Given the description of an element on the screen output the (x, y) to click on. 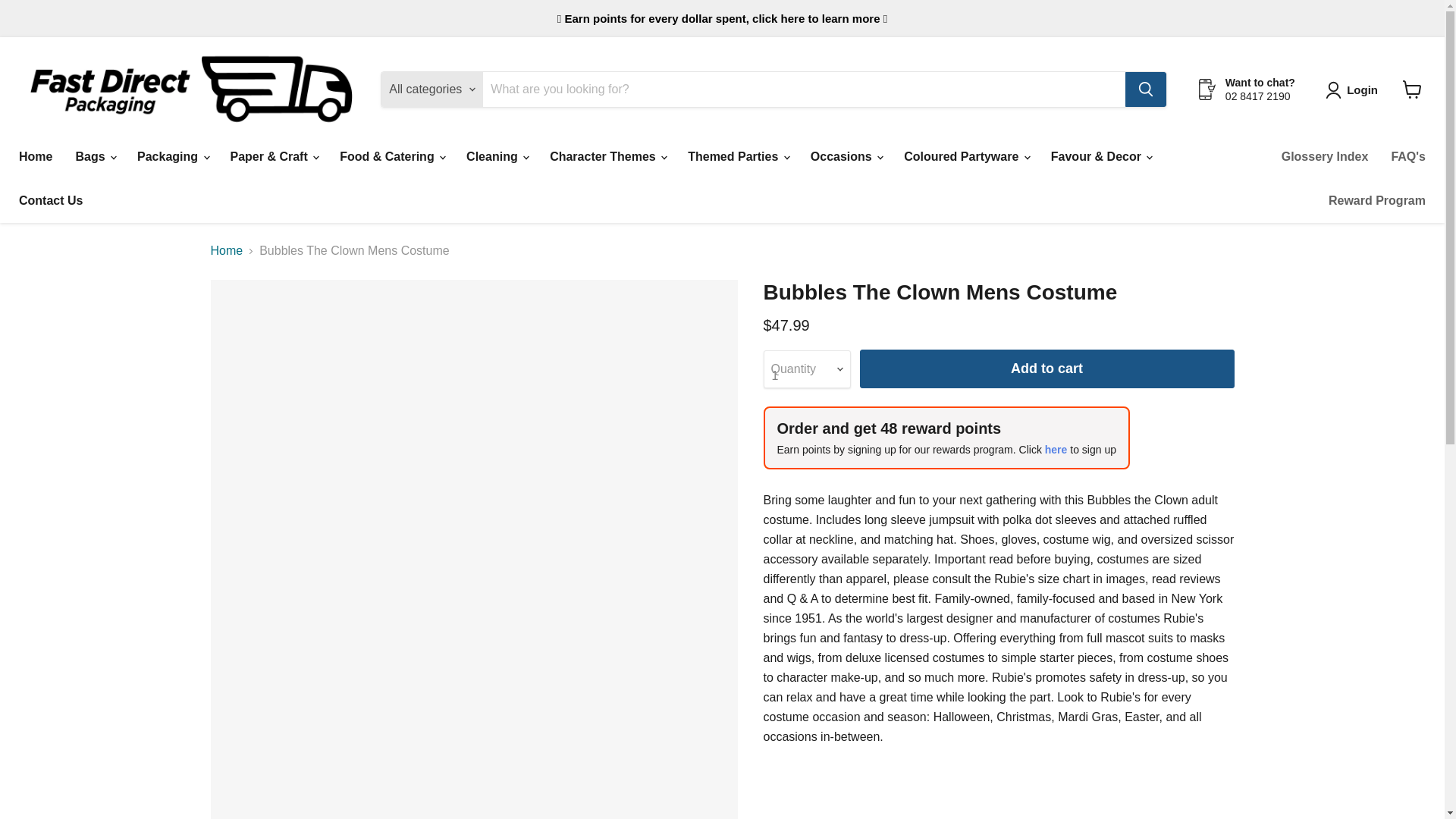
Home (35, 156)
View cart (1411, 89)
Bags (94, 156)
Login (1362, 89)
Packaging (171, 156)
